Given the description of an element on the screen output the (x, y) to click on. 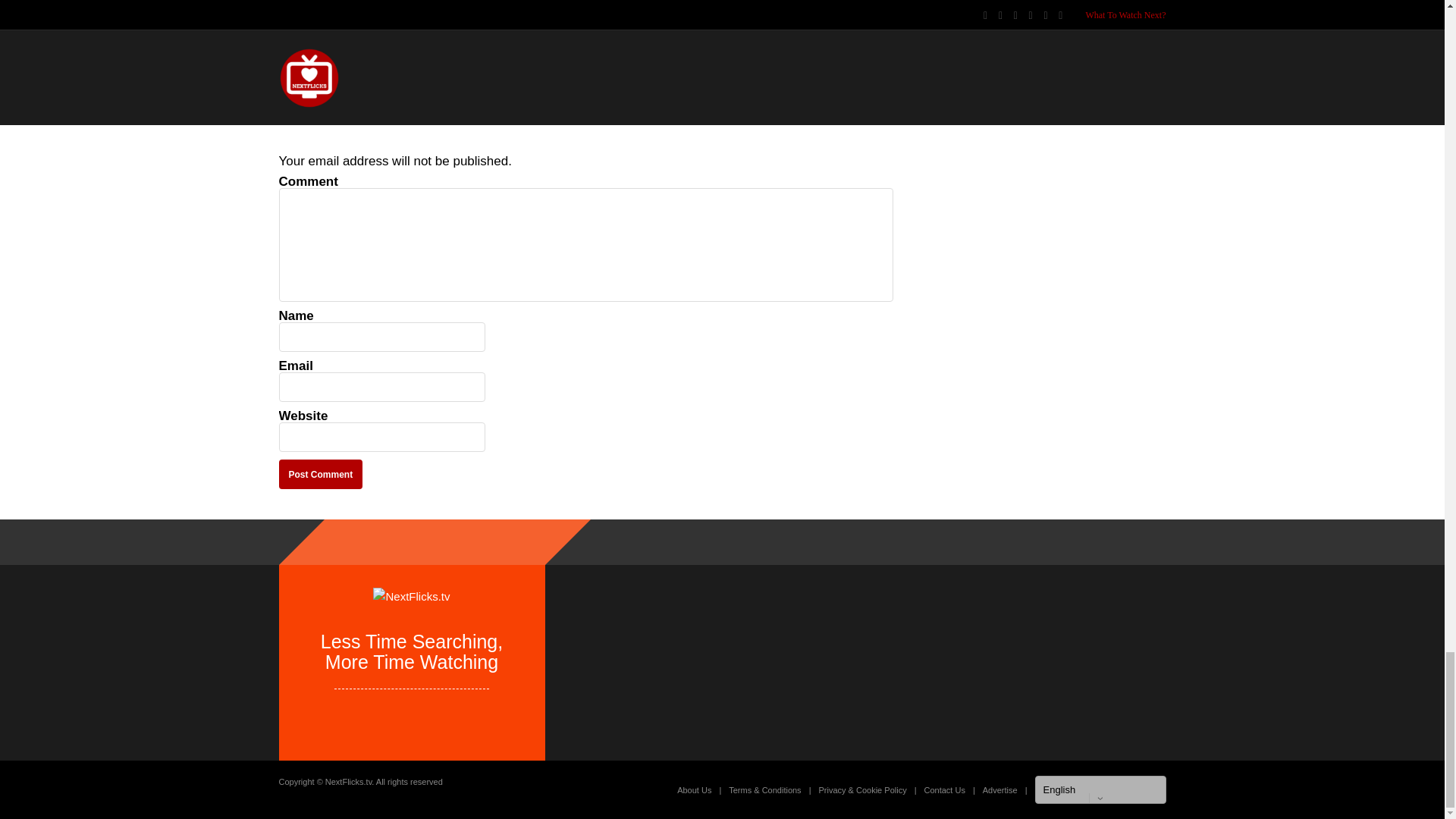
Post Comment (320, 473)
